Given the description of an element on the screen output the (x, y) to click on. 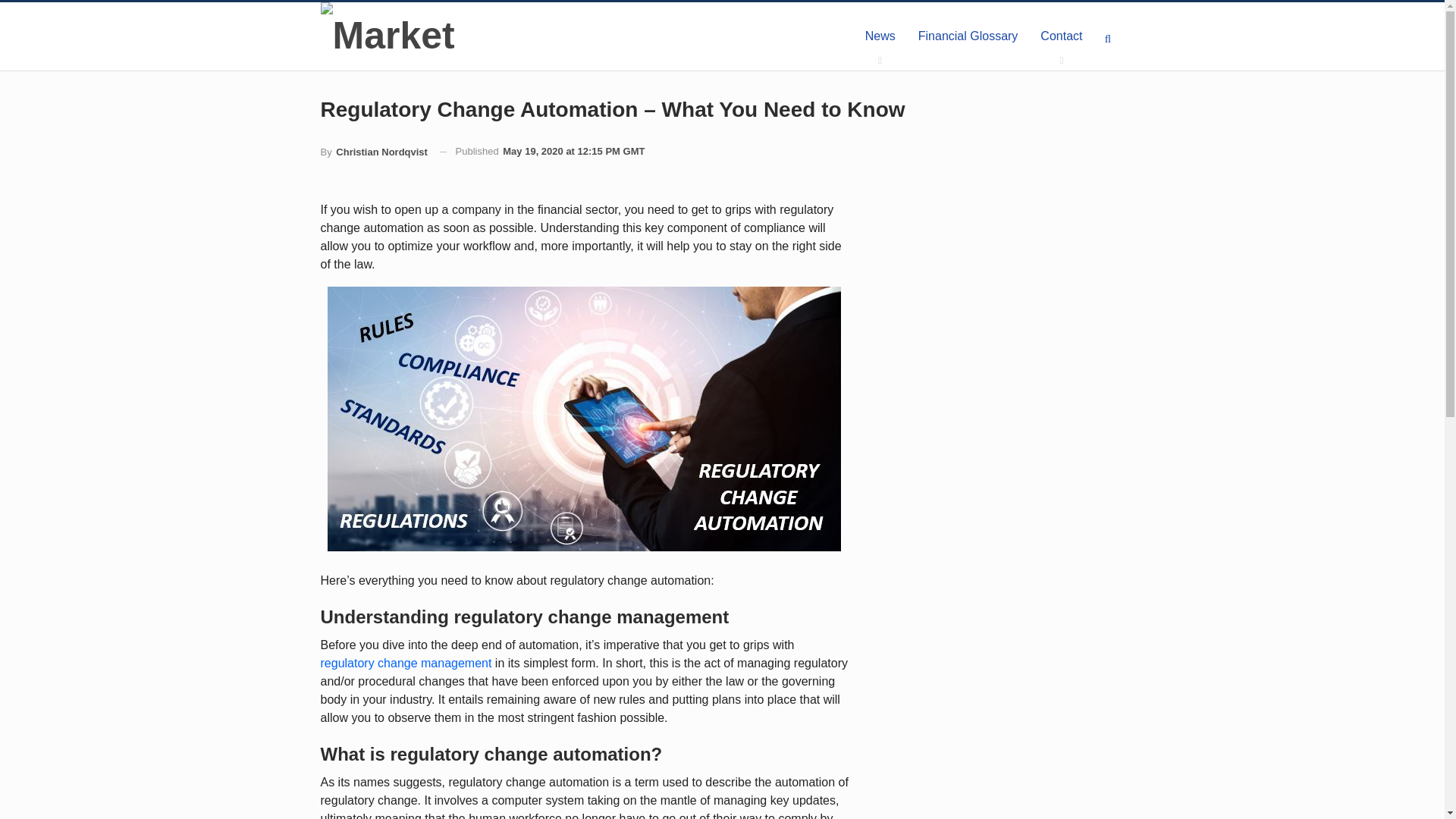
Financial Glossary (968, 36)
Browse Author Articles (373, 152)
regulatory change management (406, 662)
Contact (1061, 36)
By Christian Nordqvist (373, 152)
